Given the description of an element on the screen output the (x, y) to click on. 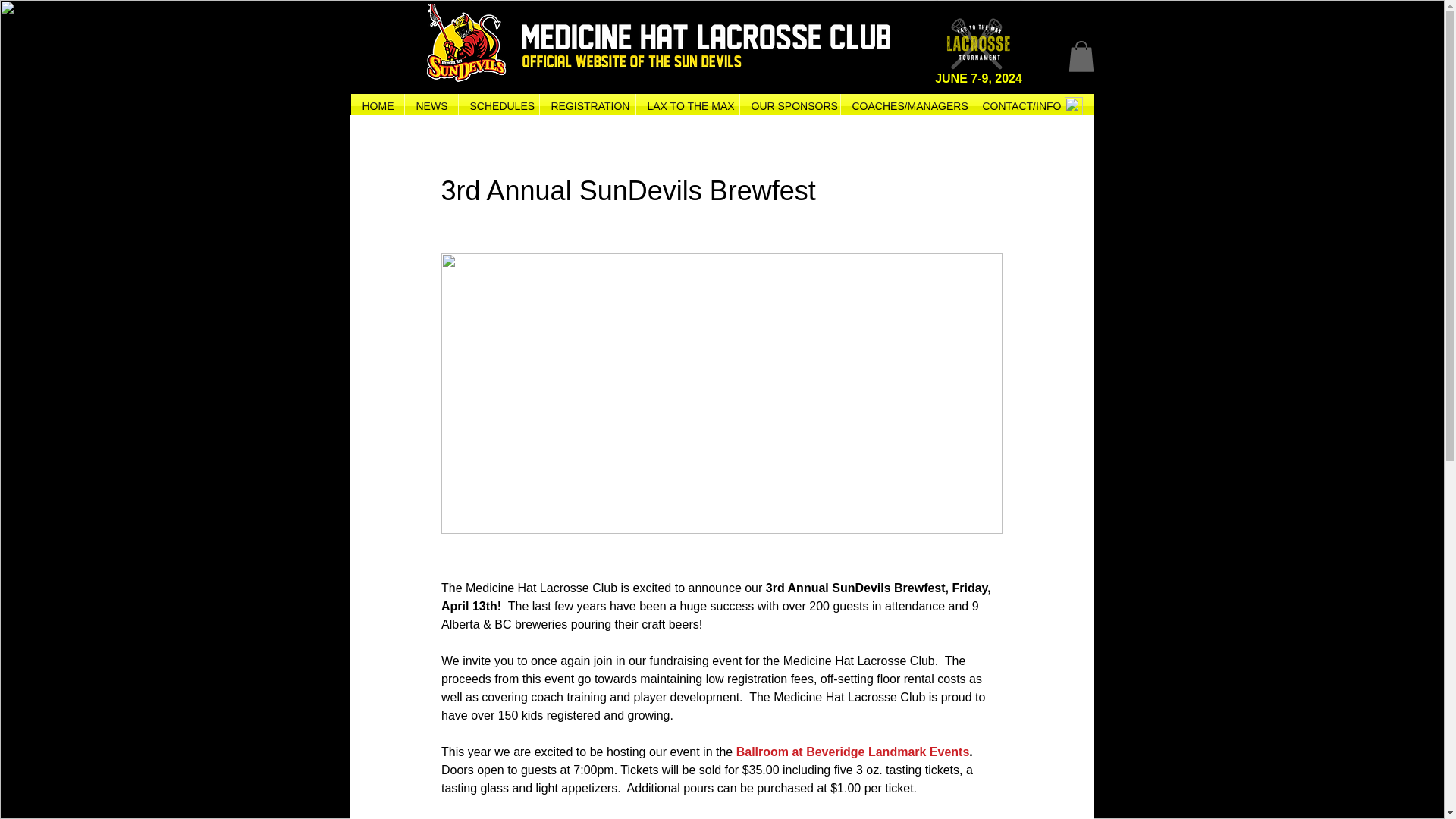
Ballroom at Beveridge Landmark Events (852, 751)
LAX TO THE MAX (686, 105)
REGISTRATION (587, 105)
NEWS (431, 105)
HOME (376, 105)
OUR SPONSORS (789, 105)
SCHEDULES (498, 105)
